Given the description of an element on the screen output the (x, y) to click on. 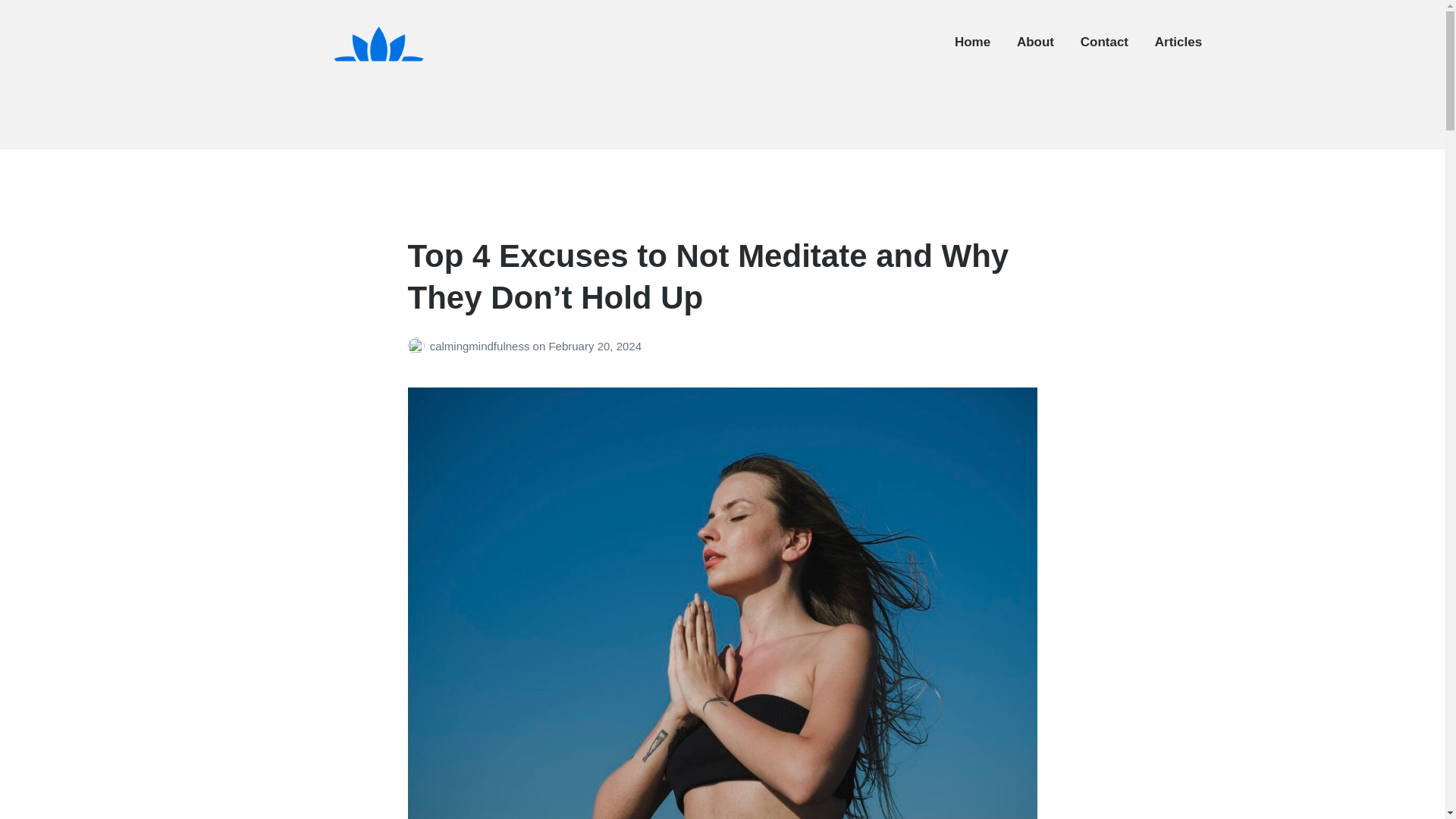
Contact (1104, 42)
Home (972, 42)
Calming Mindfulness (330, 137)
About (1035, 42)
Posts by calmingmindfulness (418, 345)
calmingmindfulness (480, 345)
Articles (1178, 42)
